Given the description of an element on the screen output the (x, y) to click on. 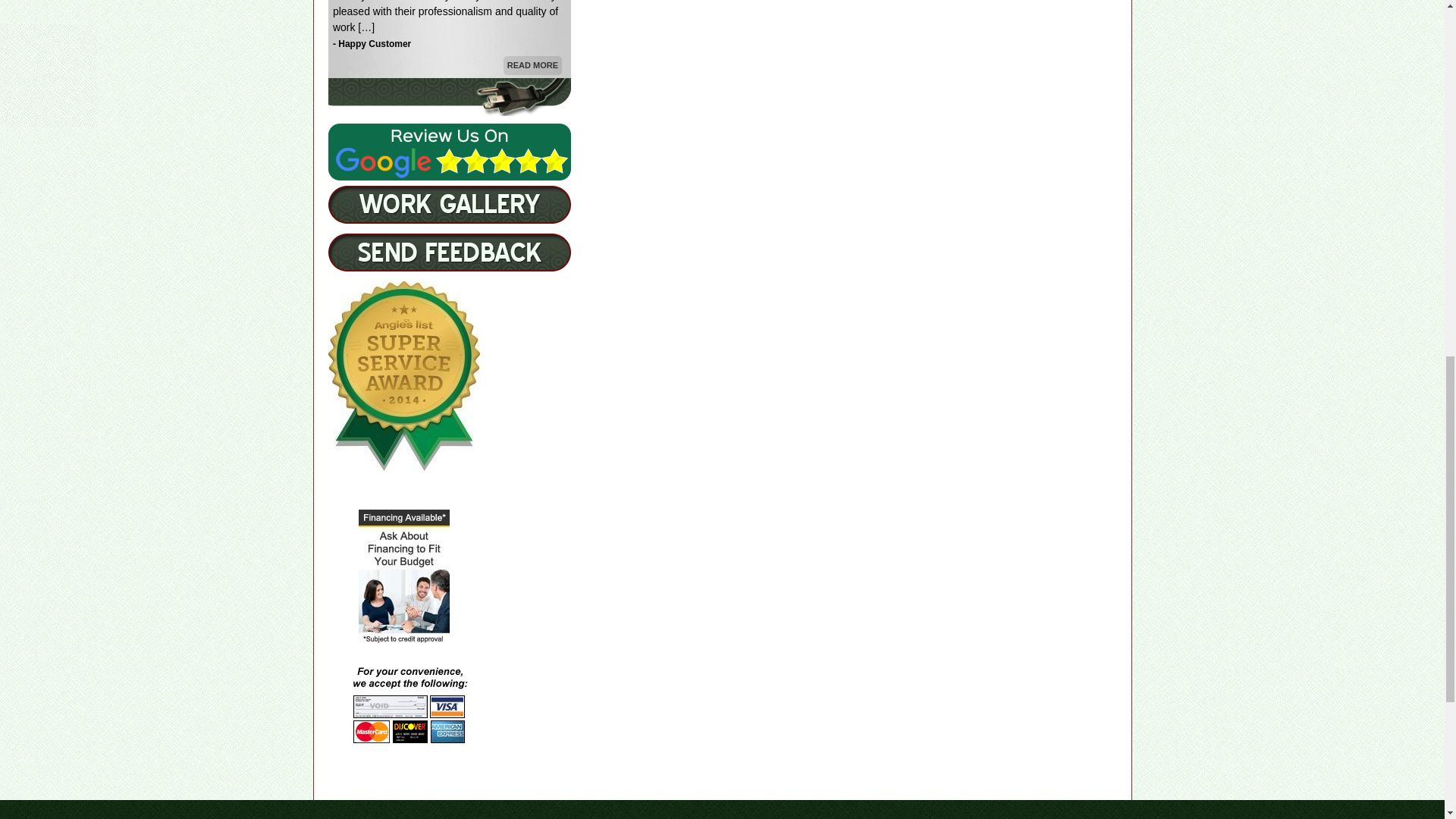
Opens in a new window (448, 151)
